Given the description of an element on the screen output the (x, y) to click on. 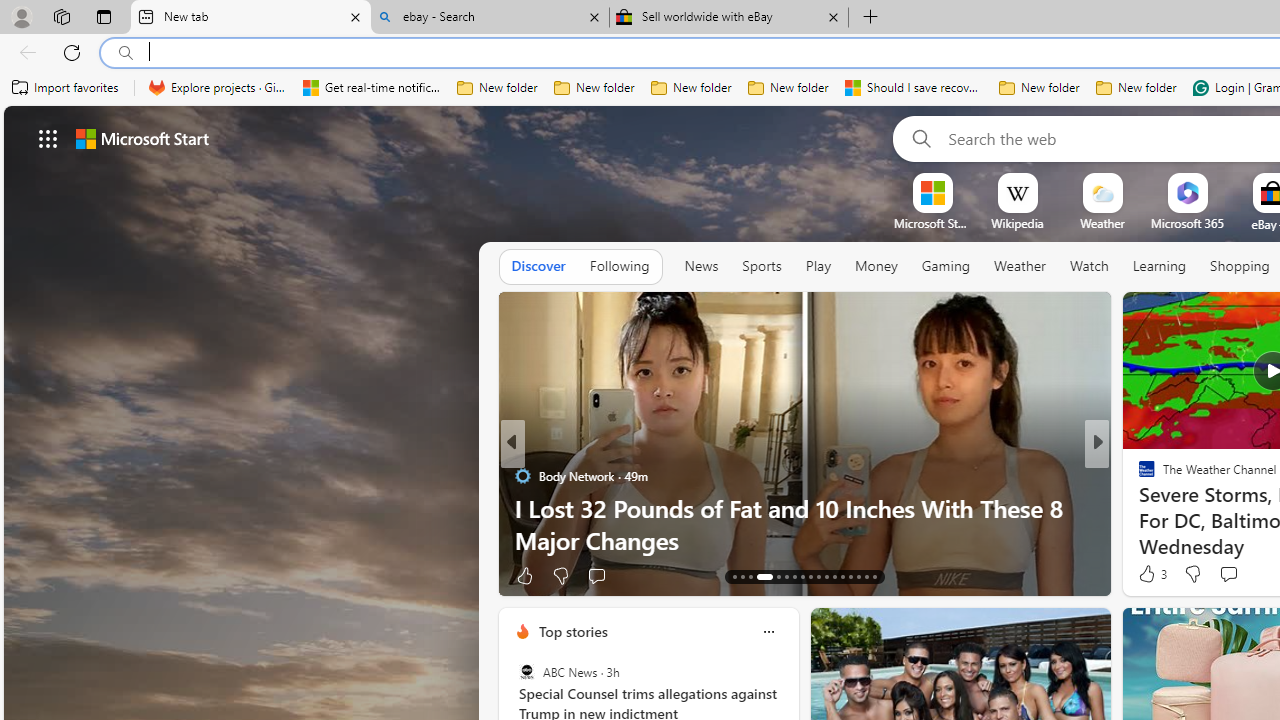
3 Like (1151, 574)
AutomationID: tab-24 (833, 576)
View comments 96 Comment (628, 574)
View comments 8 Comment (1229, 575)
Ad Choice (479, 575)
Verywell Mind (1138, 507)
Watch (1089, 265)
AutomationID: tab-21 (810, 576)
AutomationID: tab-15 (750, 576)
Start the conversation (1228, 573)
Watch (1089, 267)
AutomationID: tab-13 (733, 576)
Search (917, 138)
